Given the description of an element on the screen output the (x, y) to click on. 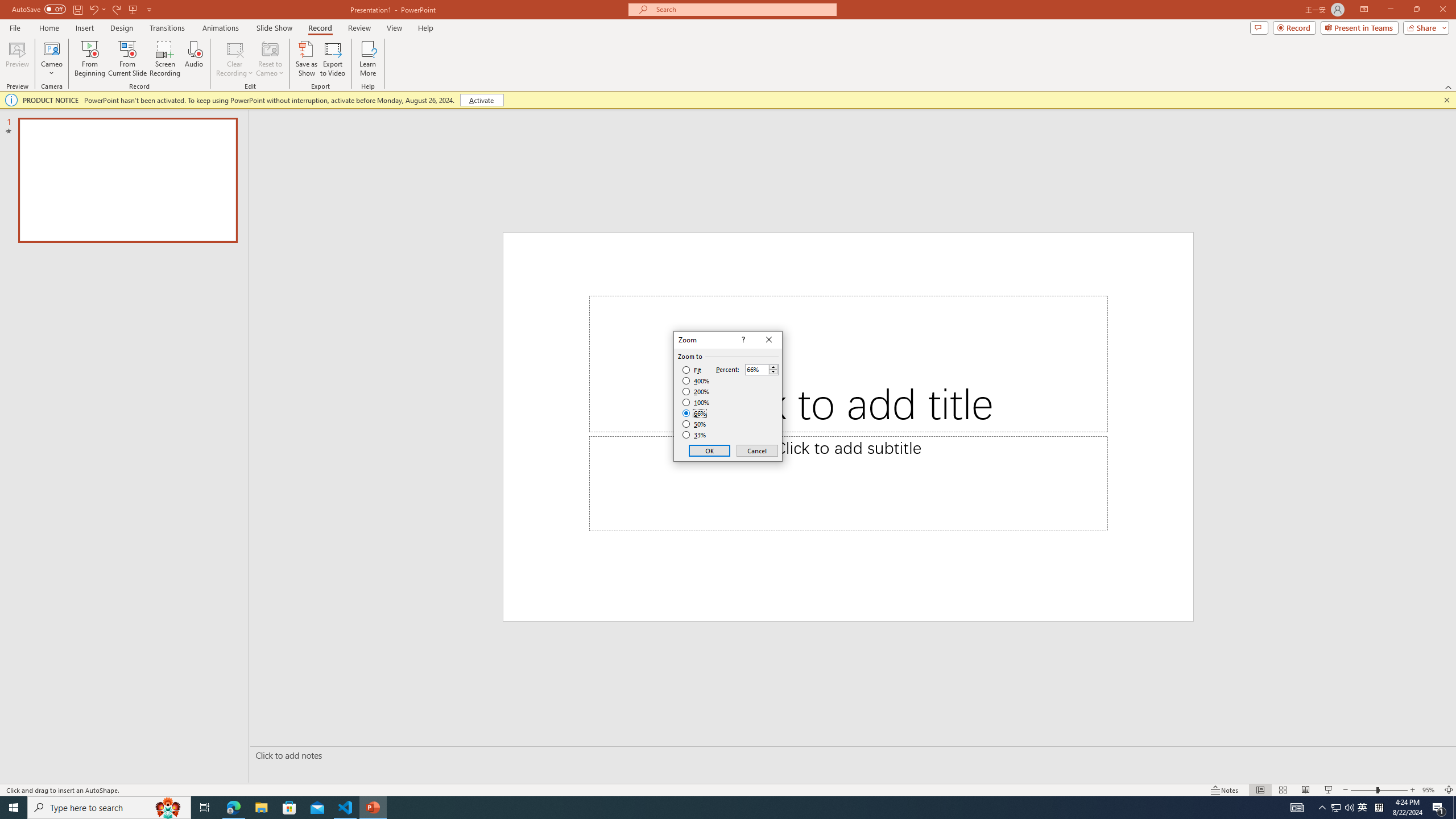
Activate (481, 100)
66% (694, 412)
Percent (756, 369)
Context help (742, 339)
Reset to Cameo (269, 58)
50% (694, 424)
